Given the description of an element on the screen output the (x, y) to click on. 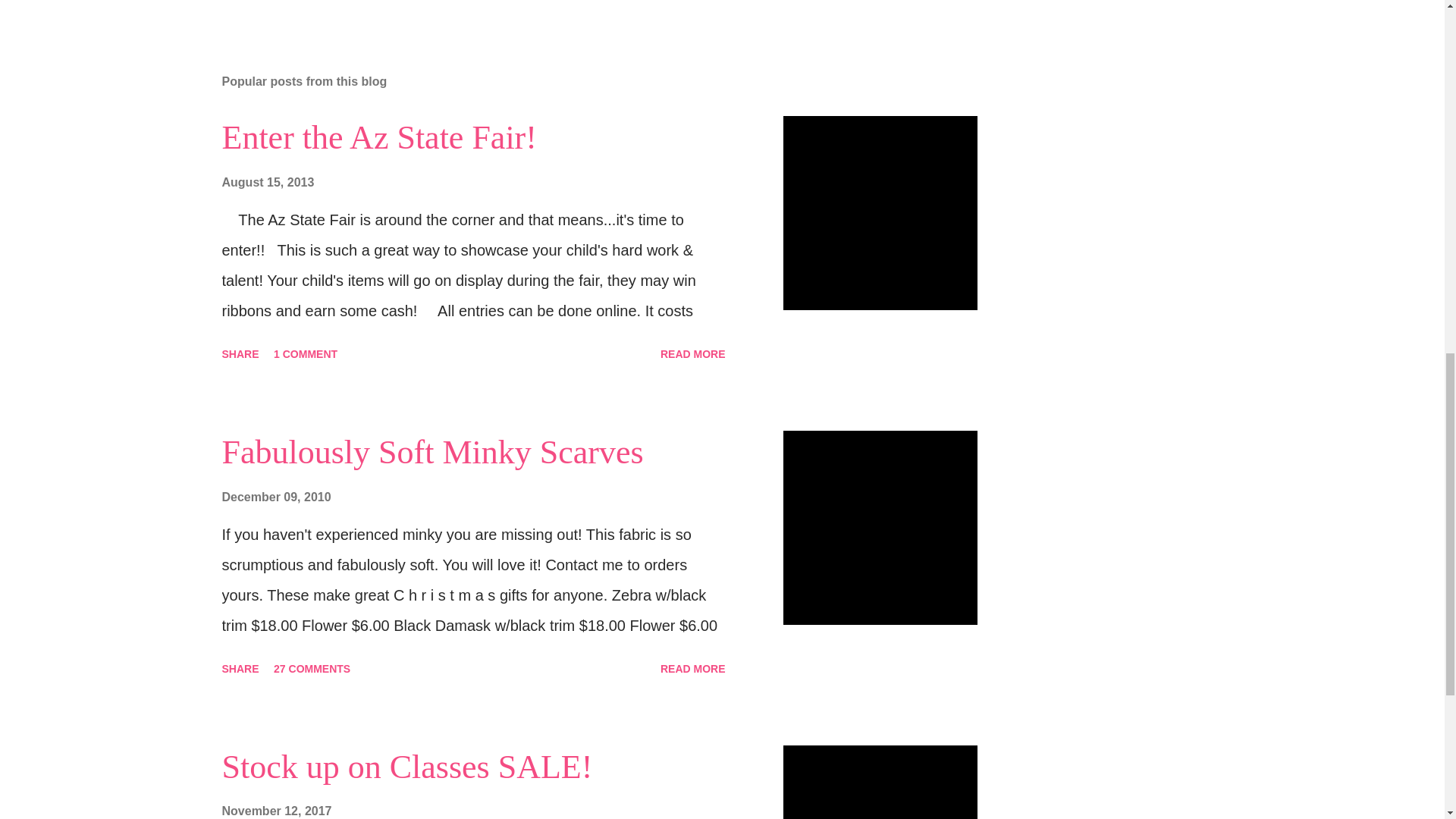
READ MORE (692, 668)
permanent link (267, 182)
November 12, 2017 (276, 810)
27 COMMENTS (311, 668)
December 09, 2010 (275, 496)
1 COMMENT (305, 354)
Stock up on Classes SALE! (406, 766)
SHARE (239, 354)
READ MORE (692, 354)
Enter the Az State Fair! (378, 137)
August 15, 2013 (267, 182)
Fabulously Soft Minky Scarves (432, 452)
SHARE (239, 668)
